Given the description of an element on the screen output the (x, y) to click on. 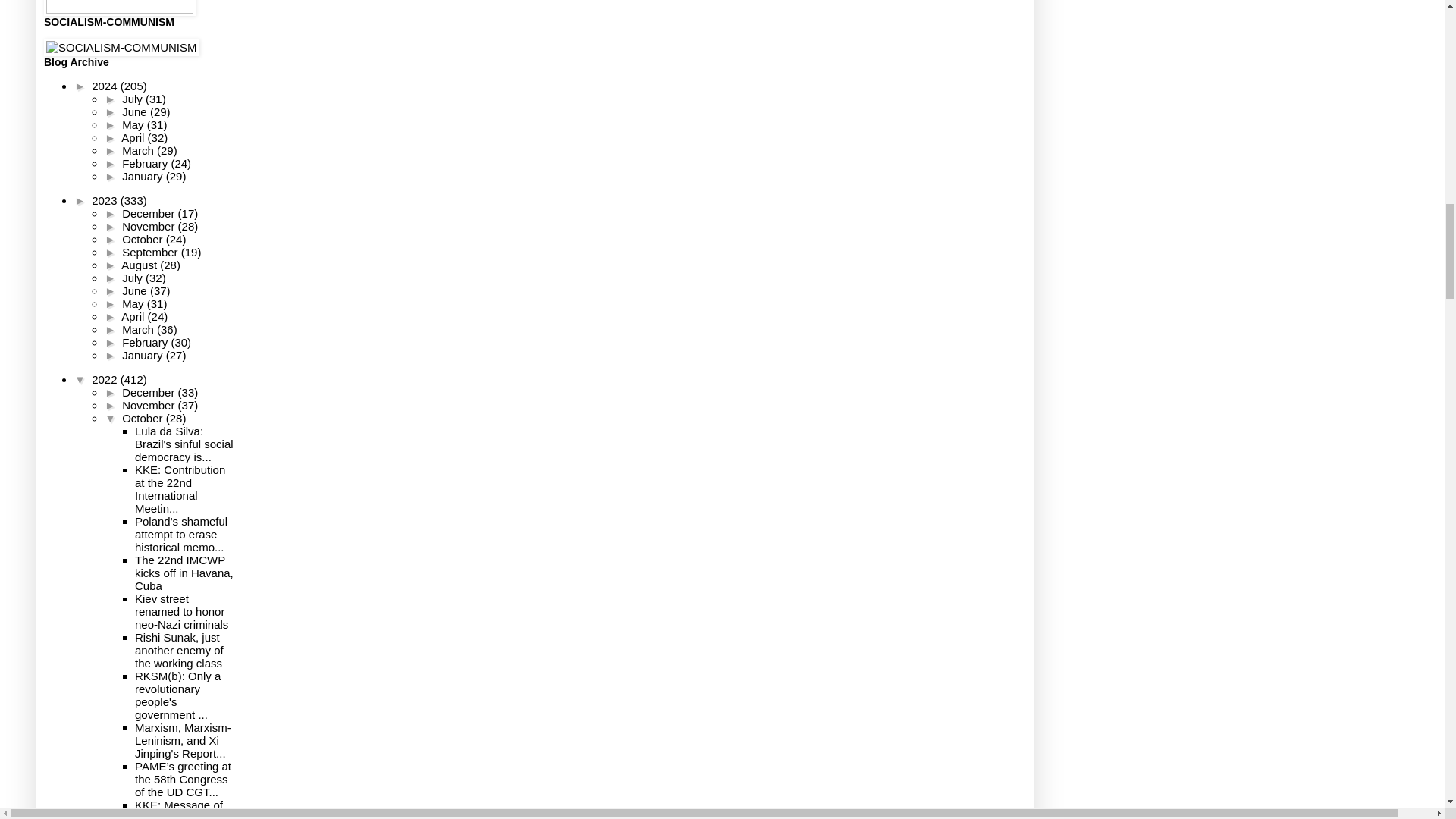
July (133, 98)
April (133, 137)
May (134, 124)
2024 (105, 85)
June (135, 111)
